Given the description of an element on the screen output the (x, y) to click on. 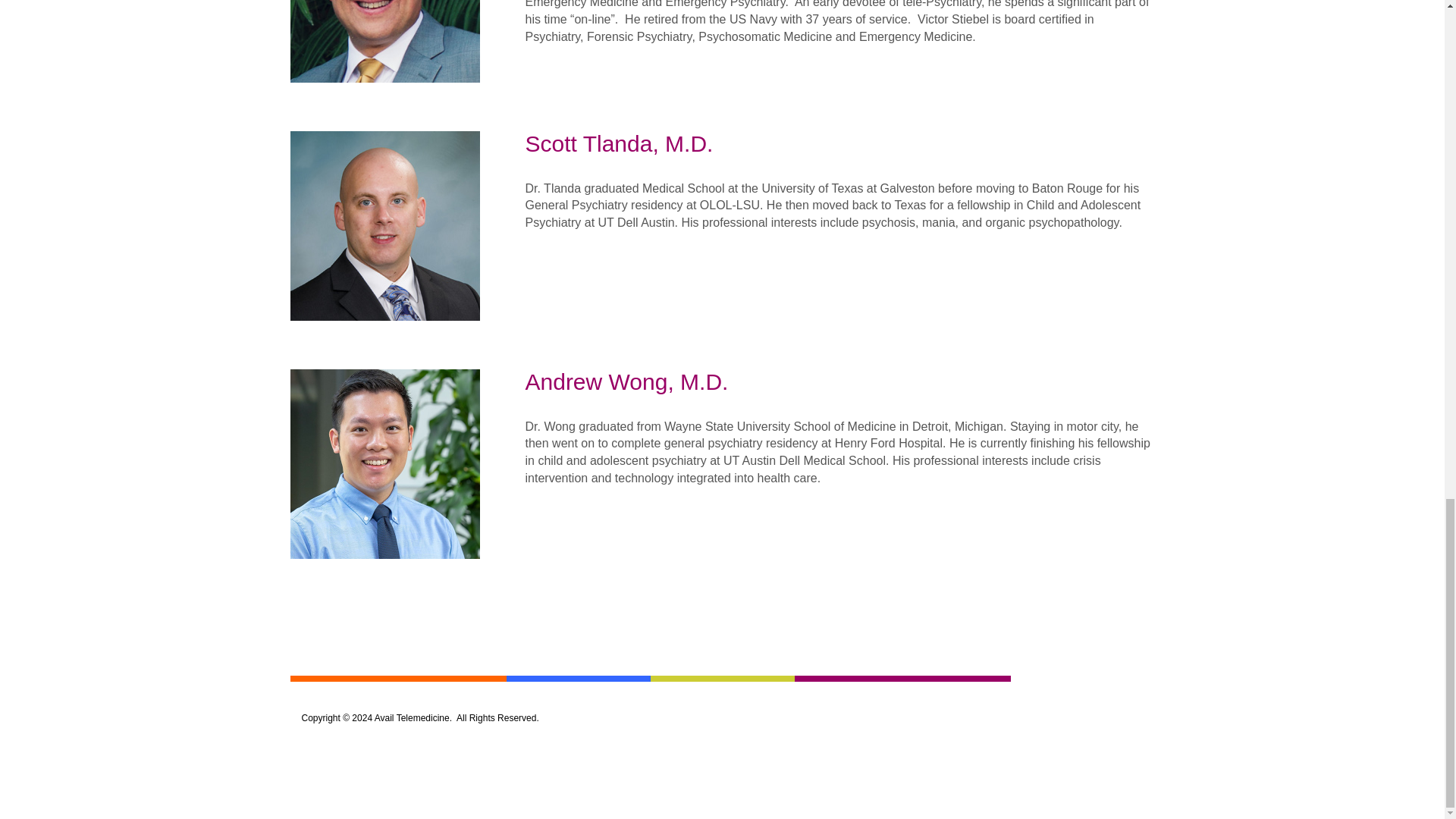
Scott Tlanda, M.D. (384, 225)
Victor Stiebel, M.D. (384, 40)
Andrew Wong, M.D. (384, 462)
